Given the description of an element on the screen output the (x, y) to click on. 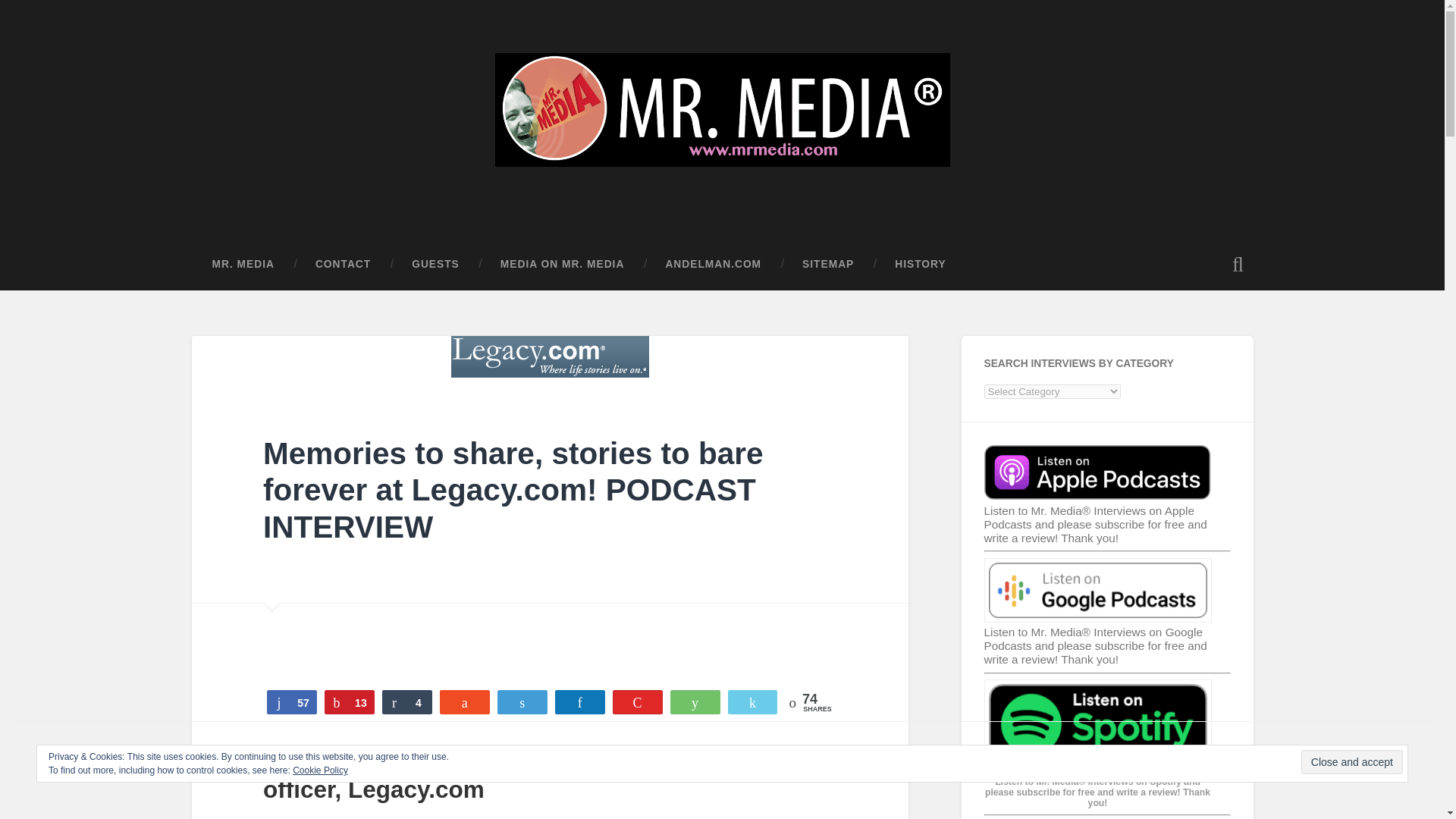
13 (349, 702)
57 (291, 702)
HISTORY (920, 264)
MR. MEDIA (242, 264)
4 (406, 702)
Close and accept (1352, 761)
GUESTS (435, 264)
SITEMAP (828, 264)
MEDIA ON MR. MEDIA (562, 264)
